Given the description of an element on the screen output the (x, y) to click on. 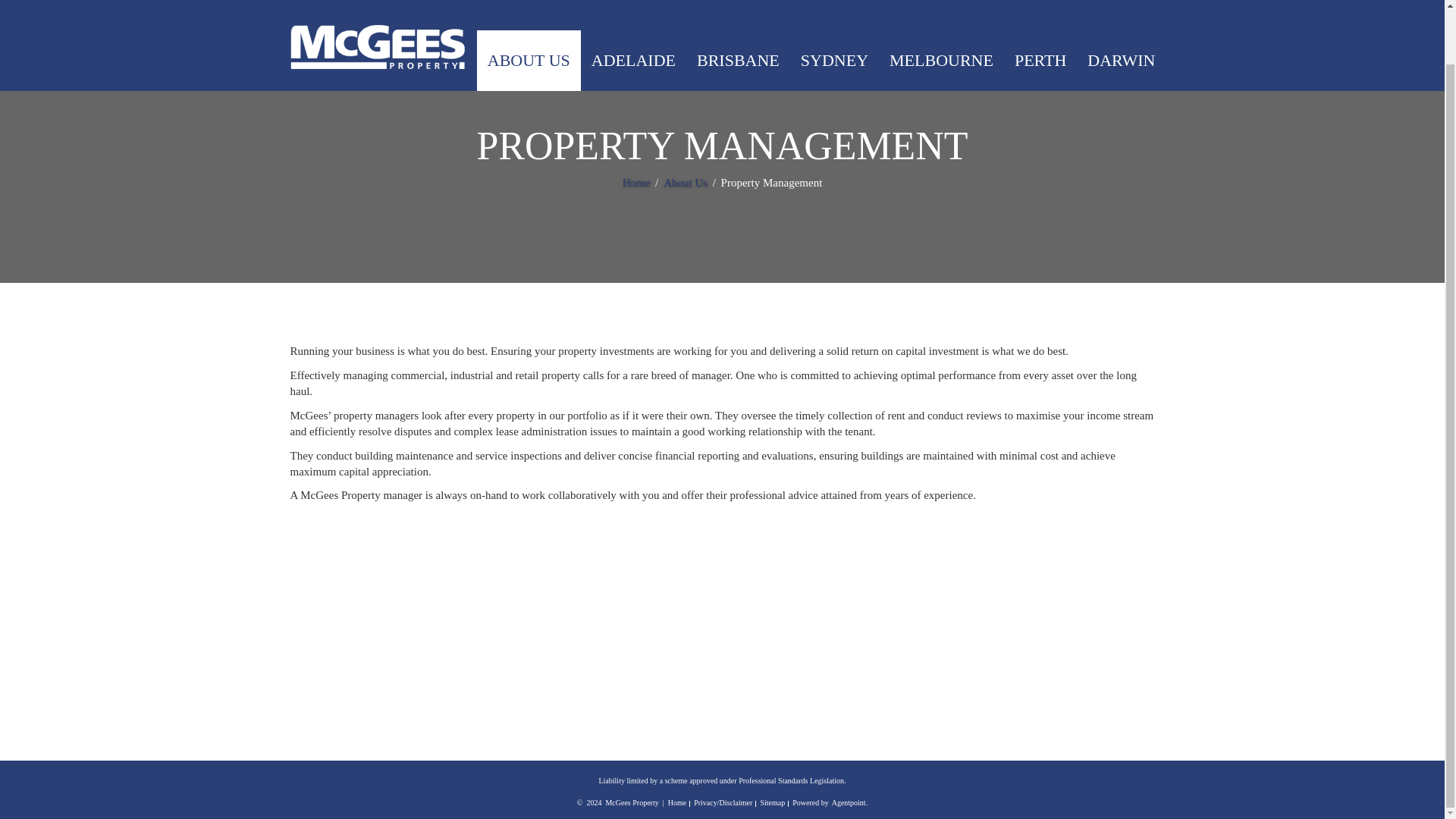
BRISBANE (737, 16)
Home (637, 182)
DARWIN (1121, 16)
About Us (686, 182)
Sitemap (772, 802)
Home (676, 802)
PERTH (1040, 16)
SYDNEY (834, 16)
MELBOURNE (941, 16)
About Us (686, 182)
